Given the description of an element on the screen output the (x, y) to click on. 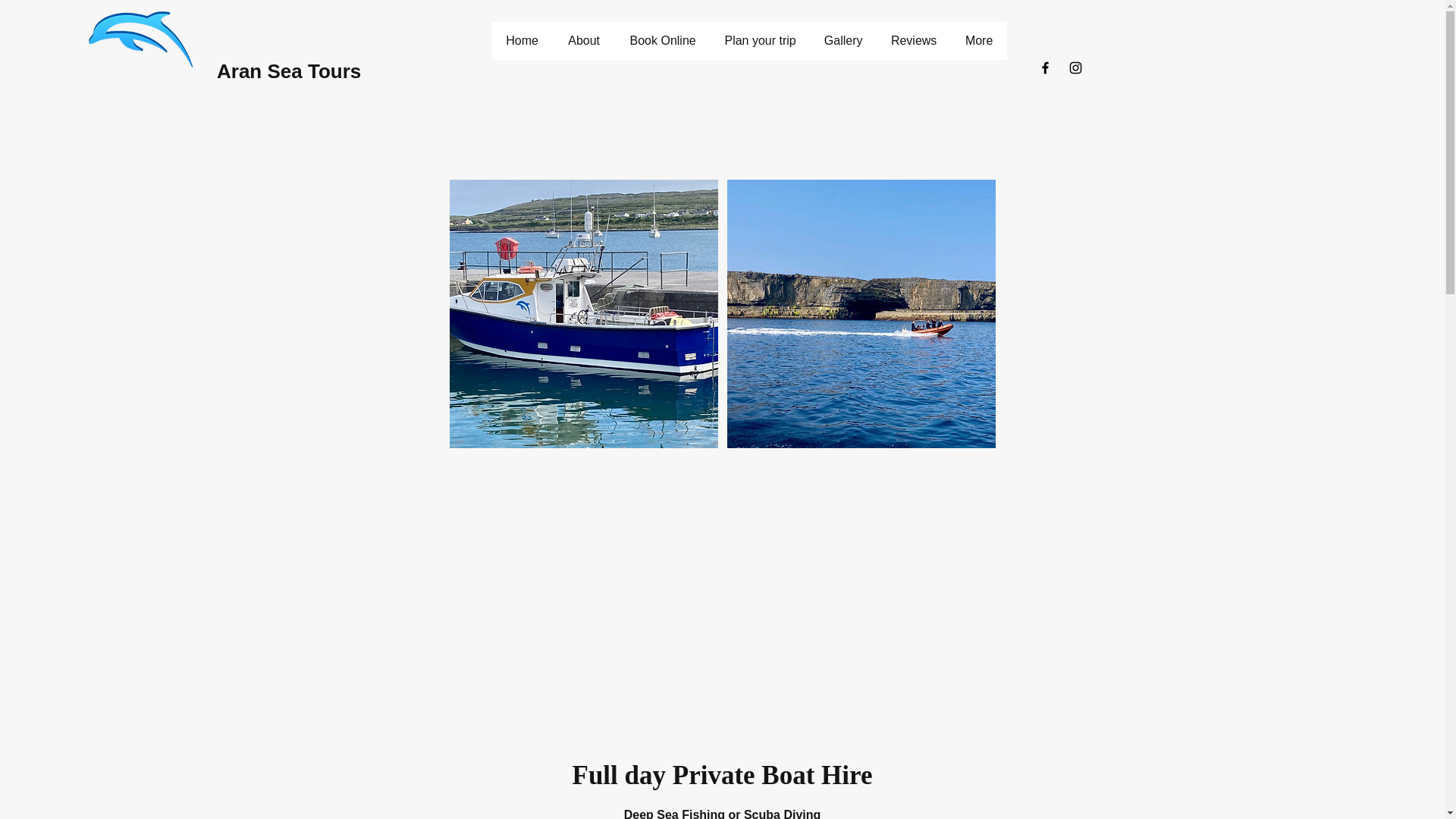
Home (522, 40)
Gallery (842, 40)
Plan your trip (759, 40)
About (583, 40)
Aran Sea Tours (288, 70)
Reviews (913, 40)
Book Online (662, 40)
